Given the description of an element on the screen output the (x, y) to click on. 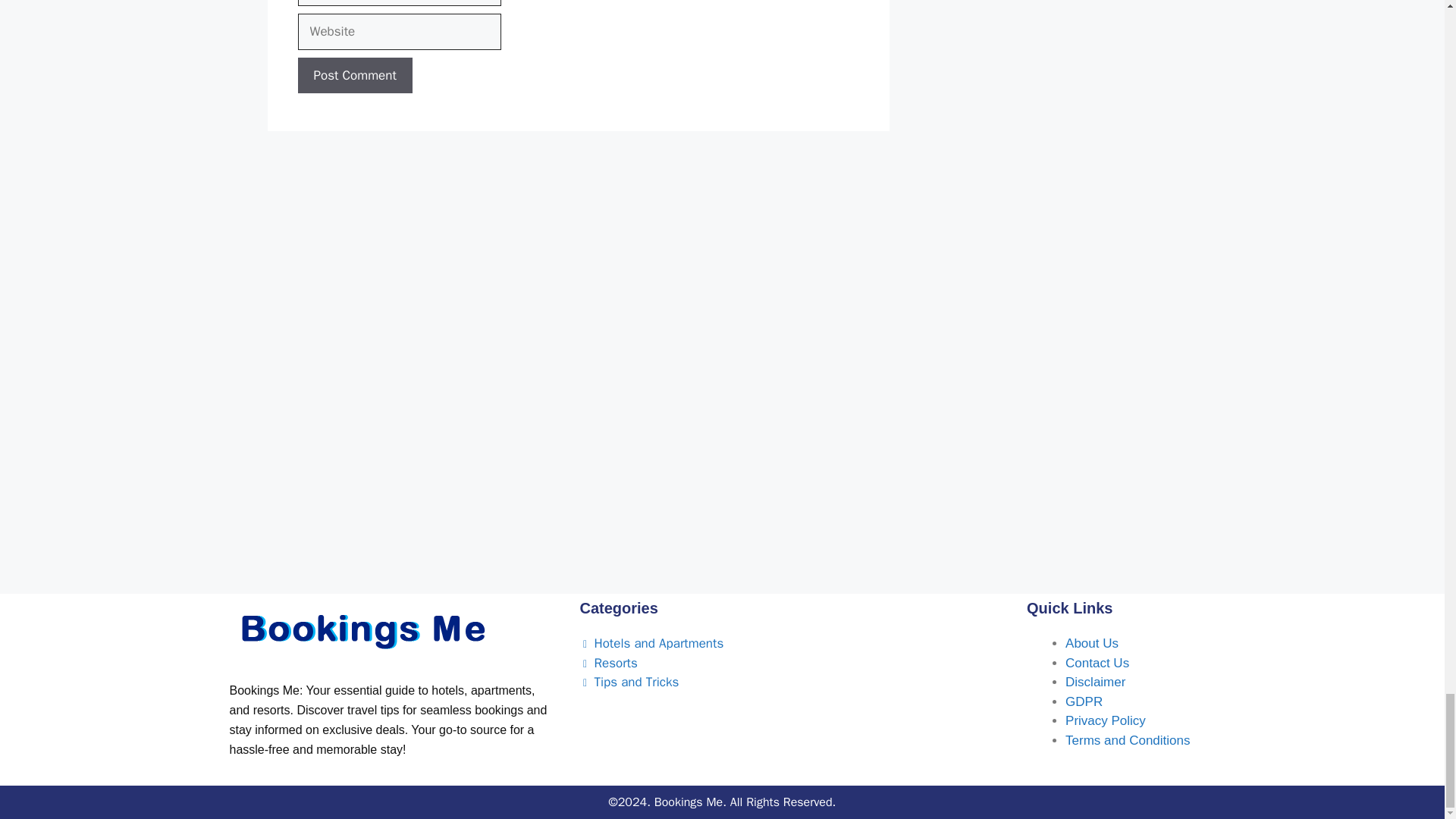
Resorts (608, 663)
Post Comment (354, 75)
Tips and Tricks (628, 682)
Post Comment (354, 75)
About Us (1091, 643)
Hotels and Apartments (651, 643)
